Given the description of an element on the screen output the (x, y) to click on. 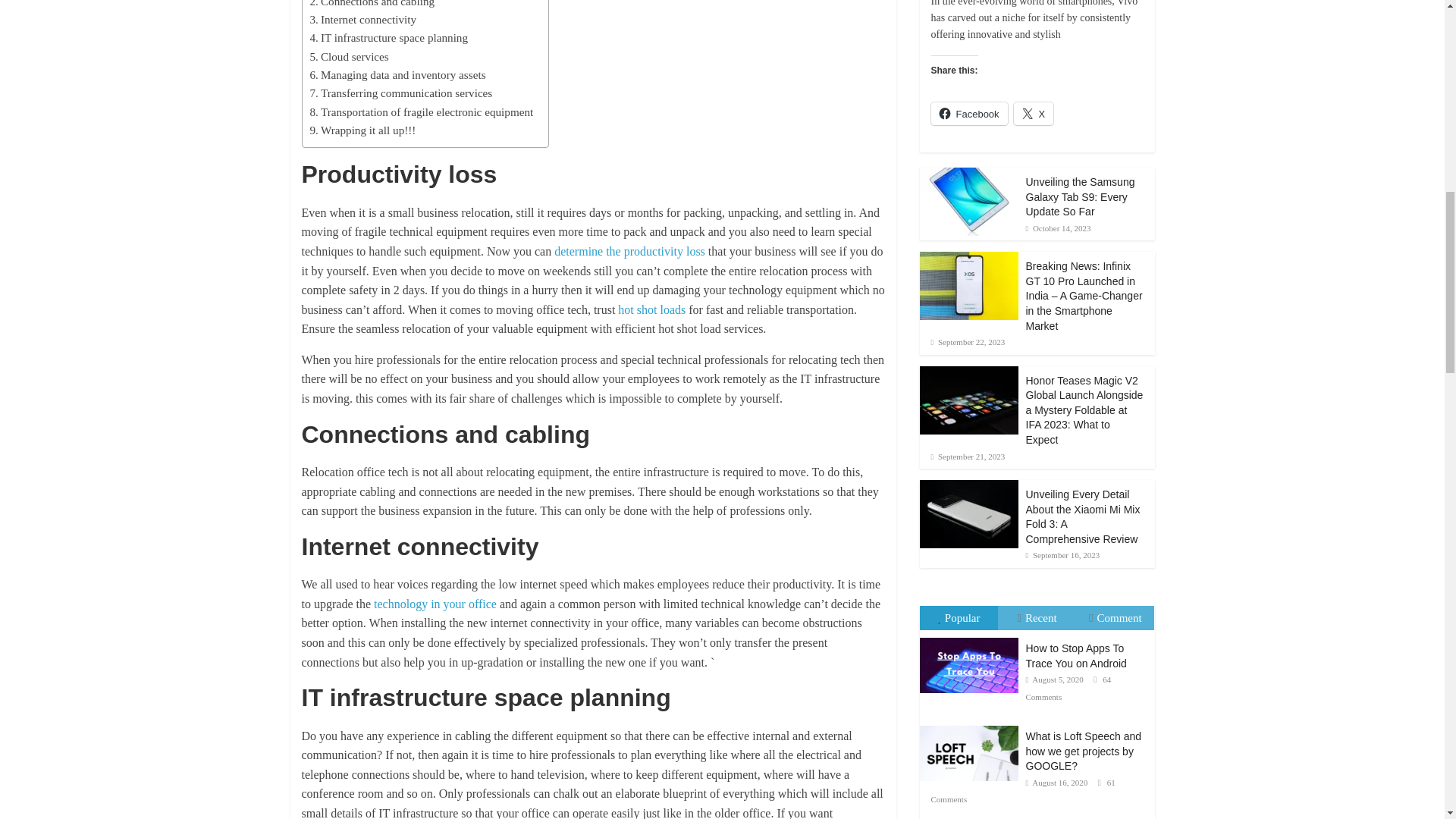
Transferring communication services (400, 93)
Cloud services (348, 56)
Connections and cabling (370, 5)
Managing data and inventory assets (396, 75)
Cloud services (348, 56)
hot shot loads (652, 309)
technology in your office (435, 603)
Wrapping it all up!!! (361, 130)
Connections and cabling (370, 5)
IT infrastructure space planning (387, 37)
Internet connectivity (362, 19)
determine the productivity loss (629, 250)
Transportation of fragile electronic equipment (420, 112)
IT infrastructure space planning (387, 37)
Internet connectivity (362, 19)
